Given the description of an element on the screen output the (x, y) to click on. 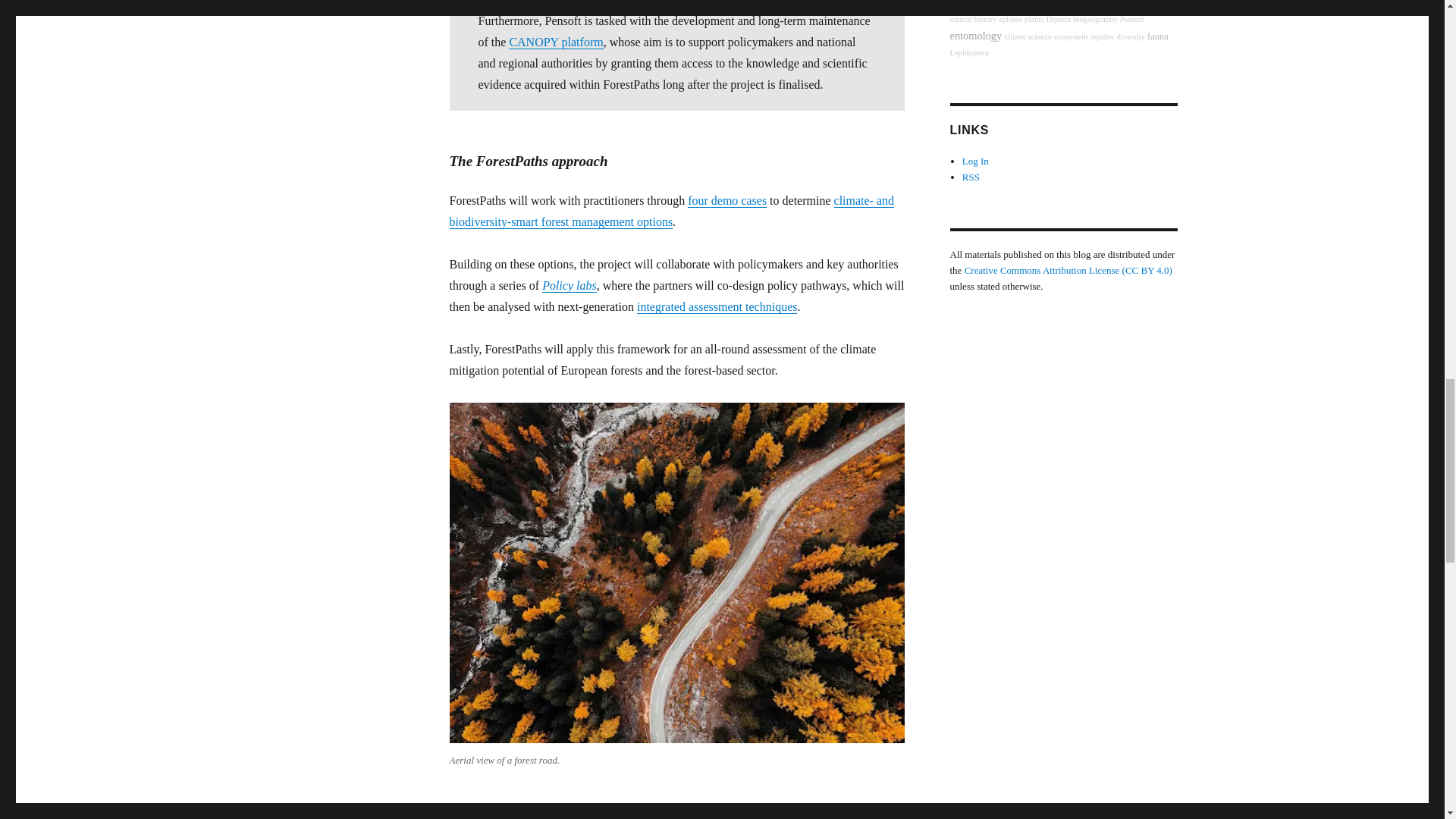
integrated assessment techniques (717, 306)
climate- and biodiversity-smart forest management options (670, 211)
CANOPY platform (555, 42)
Policy labs (568, 285)
four demo cases (727, 200)
